Given the description of an element on the screen output the (x, y) to click on. 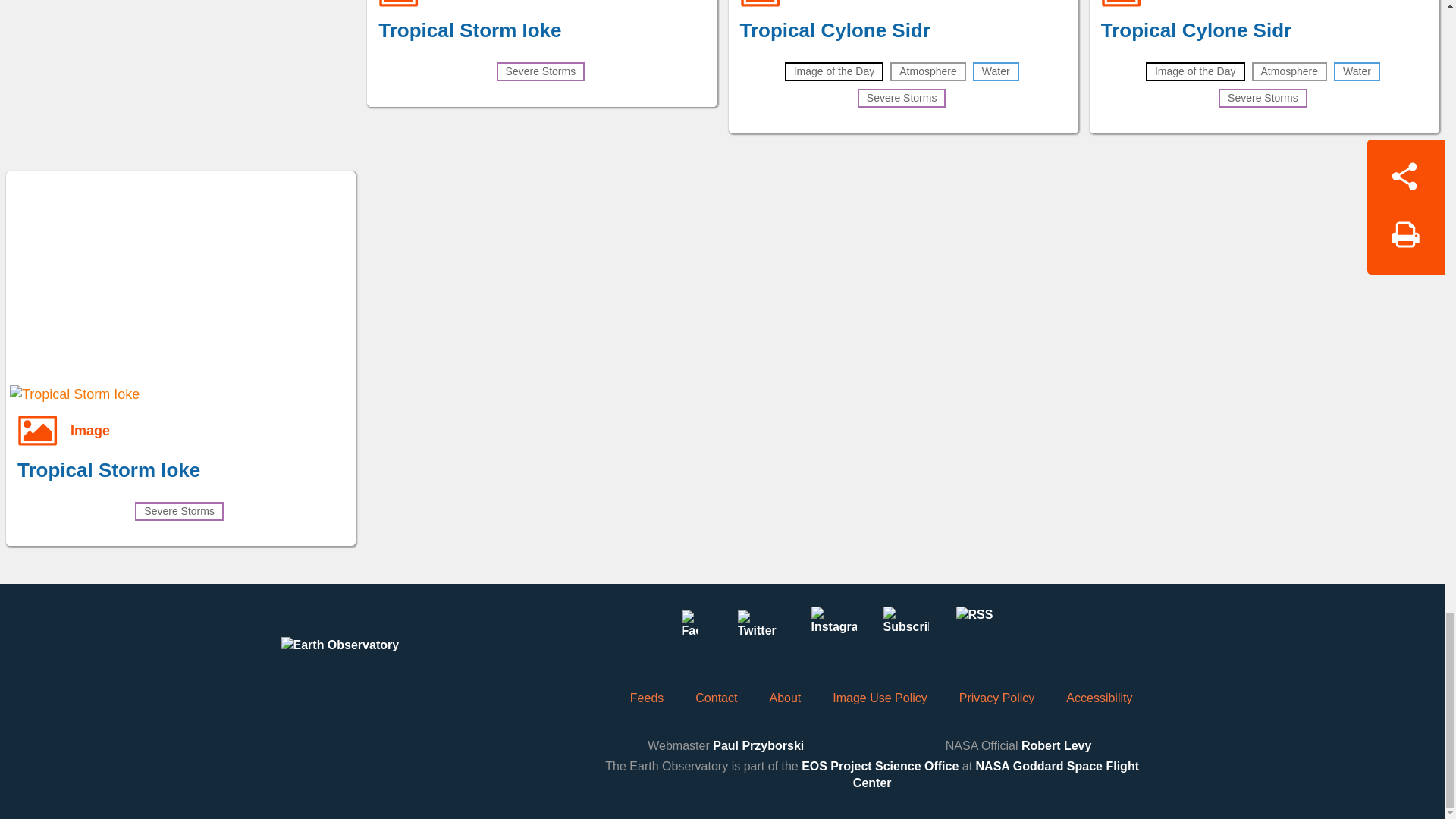
Instagram (833, 629)
Earth Observatory (369, 659)
Twitter (761, 629)
RSS (977, 629)
Subscribe (905, 629)
Facebook (689, 629)
